Given the description of an element on the screen output the (x, y) to click on. 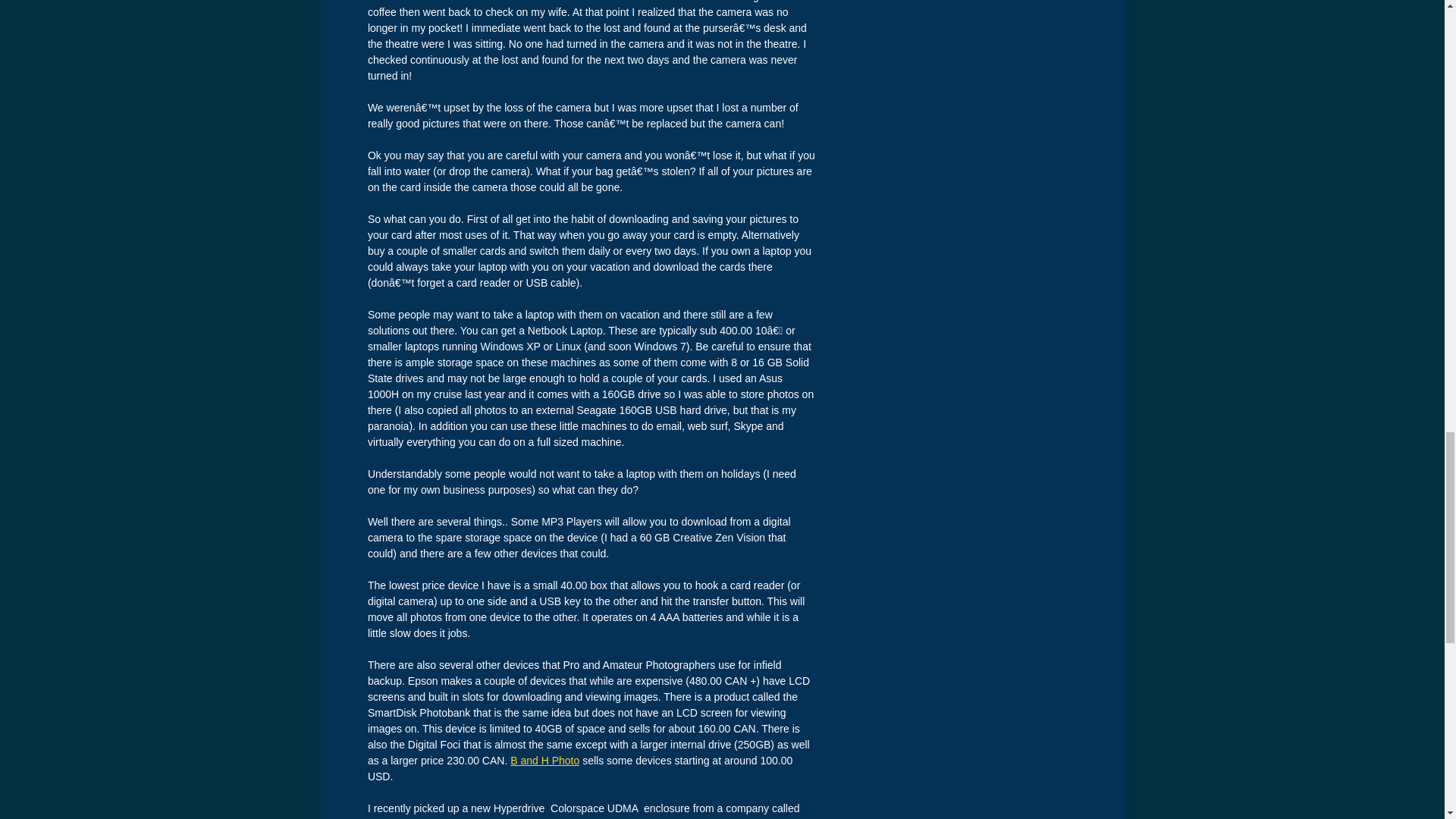
B and H Photo (545, 760)
Sensuz Media (401, 818)
